Given the description of an element on the screen output the (x, y) to click on. 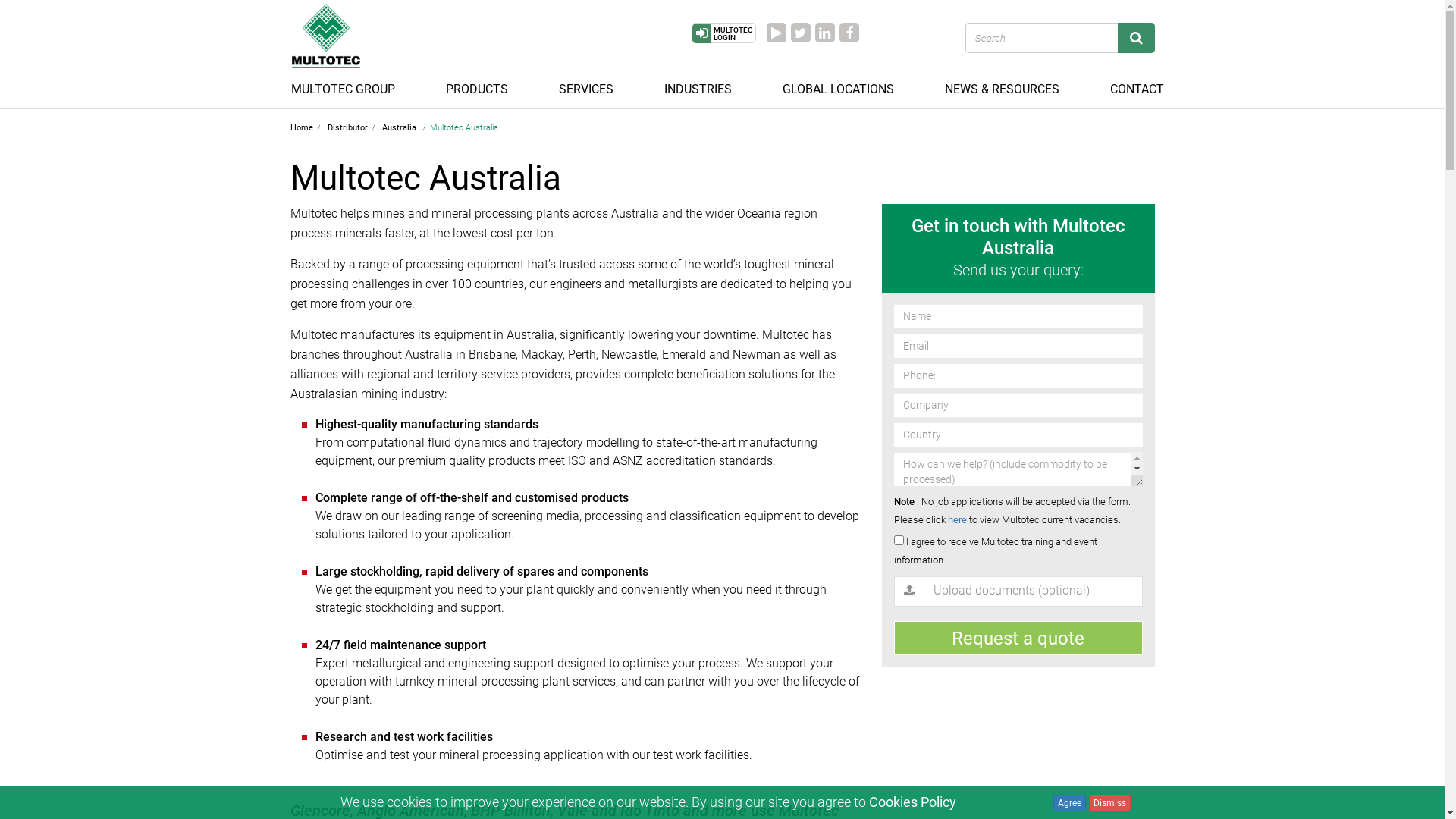
Australia Element type: text (400, 127)
Cookies Policy Element type: text (912, 801)
Dismiss Element type: text (1109, 802)
MULTOTEC LOGIN Element type: text (723, 32)
INDUSTRIES Element type: text (705, 86)
CONTACT Element type: text (1137, 86)
PRODUCTS Element type: text (484, 86)
SERVICES Element type: text (592, 86)
Home Element type: text (300, 127)
Distributor Element type: text (347, 127)
NEWS & RESOURCES Element type: text (1009, 86)
GLOBAL LOCATIONS Element type: text (845, 86)
here Element type: text (956, 519)
Request a quote Element type: text (1017, 638)
MULTOTEC GROUP Element type: text (350, 86)
Agree Element type: text (1069, 802)
